Given the description of an element on the screen output the (x, y) to click on. 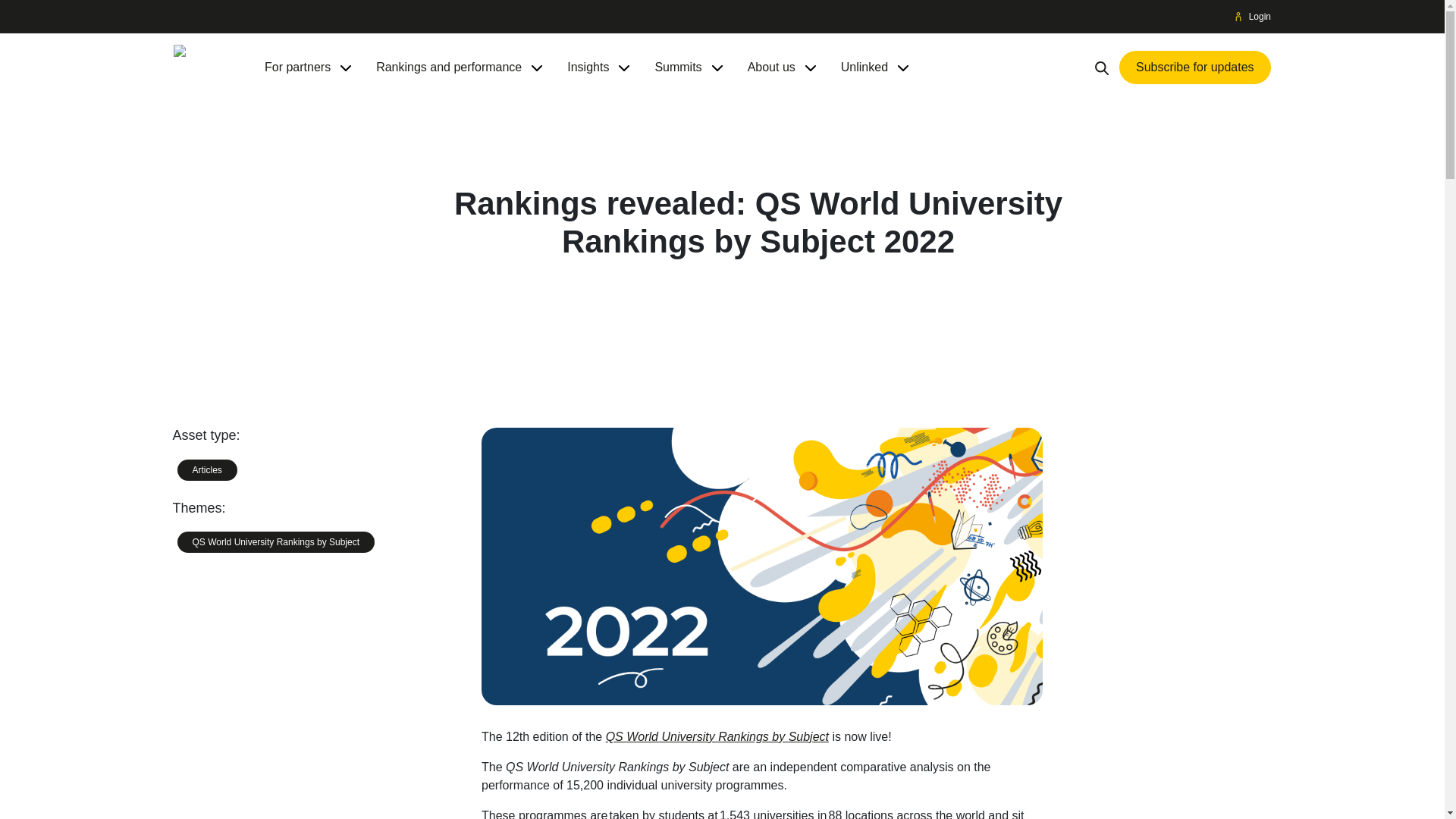
Login (1252, 17)
Insights (587, 67)
Summits (677, 67)
For partners (297, 67)
Rankings and performance (448, 67)
For partners (297, 67)
